Given the description of an element on the screen output the (x, y) to click on. 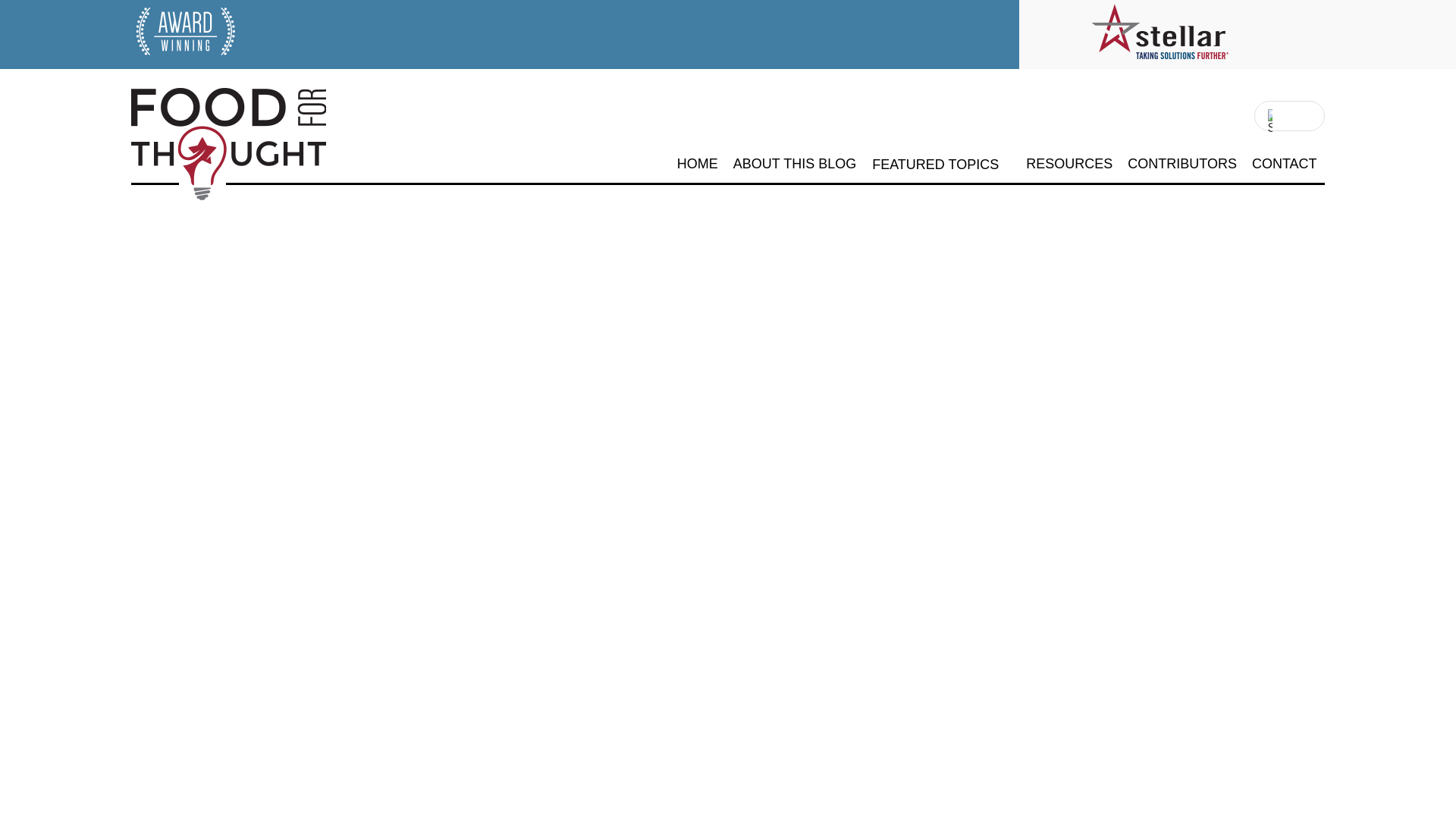
ABOUT THIS BLOG (794, 163)
HOME (697, 163)
RESOURCES (1069, 163)
FEATURED TOPICS (935, 164)
CONTACT (1284, 163)
Stellar Food for Thought (200, 205)
CONTRIBUTORS (1181, 163)
